Given the description of an element on the screen output the (x, y) to click on. 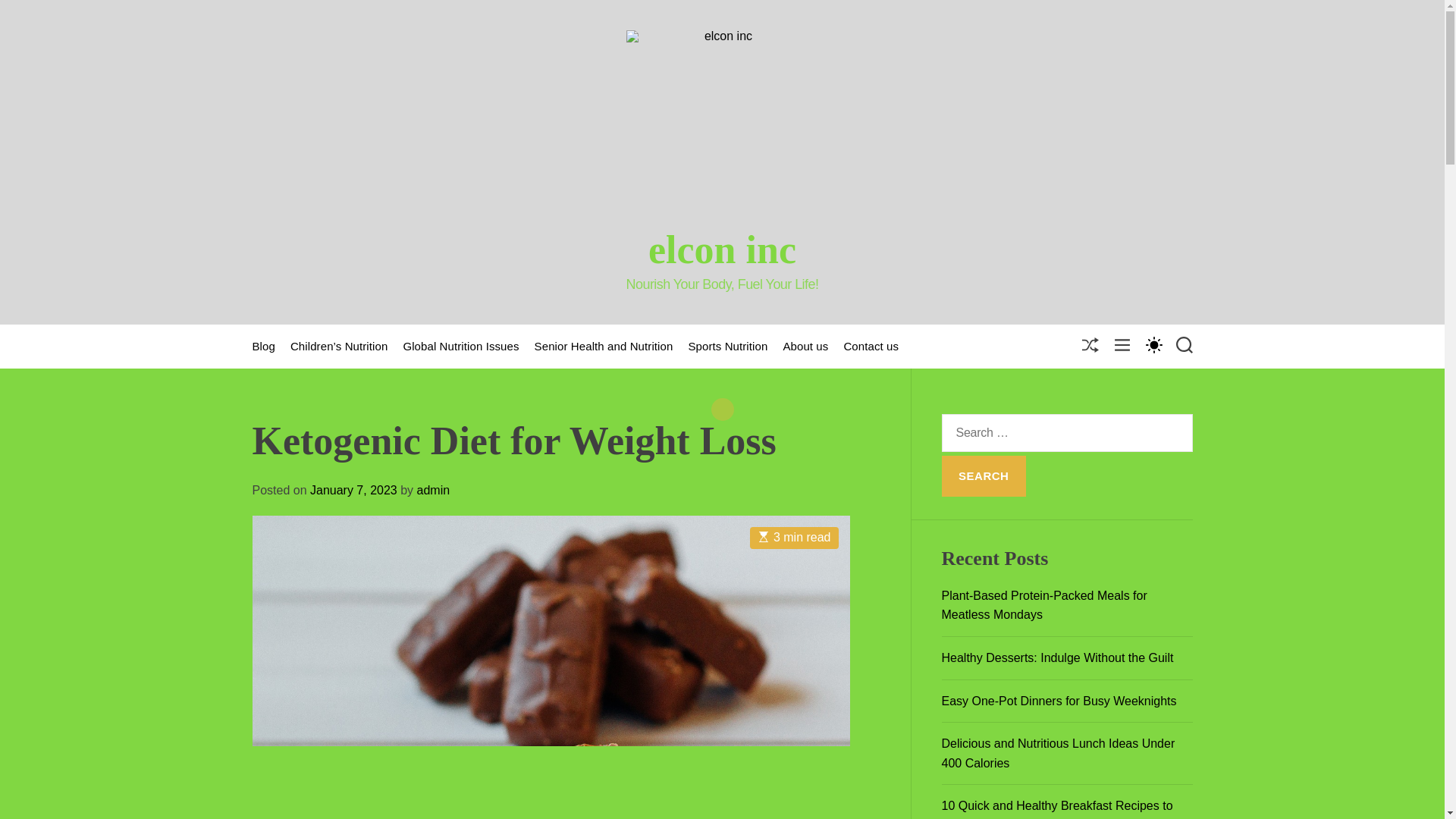
About us (805, 346)
Global Nutrition Issues (460, 346)
Search (984, 475)
Senior Health and Nutrition (603, 346)
Contact us (870, 346)
Search (984, 475)
elcon inc (722, 250)
SWITCH COLOR MODE (1152, 344)
Sports Nutrition (727, 346)
admin (432, 490)
